Given the description of an element on the screen output the (x, y) to click on. 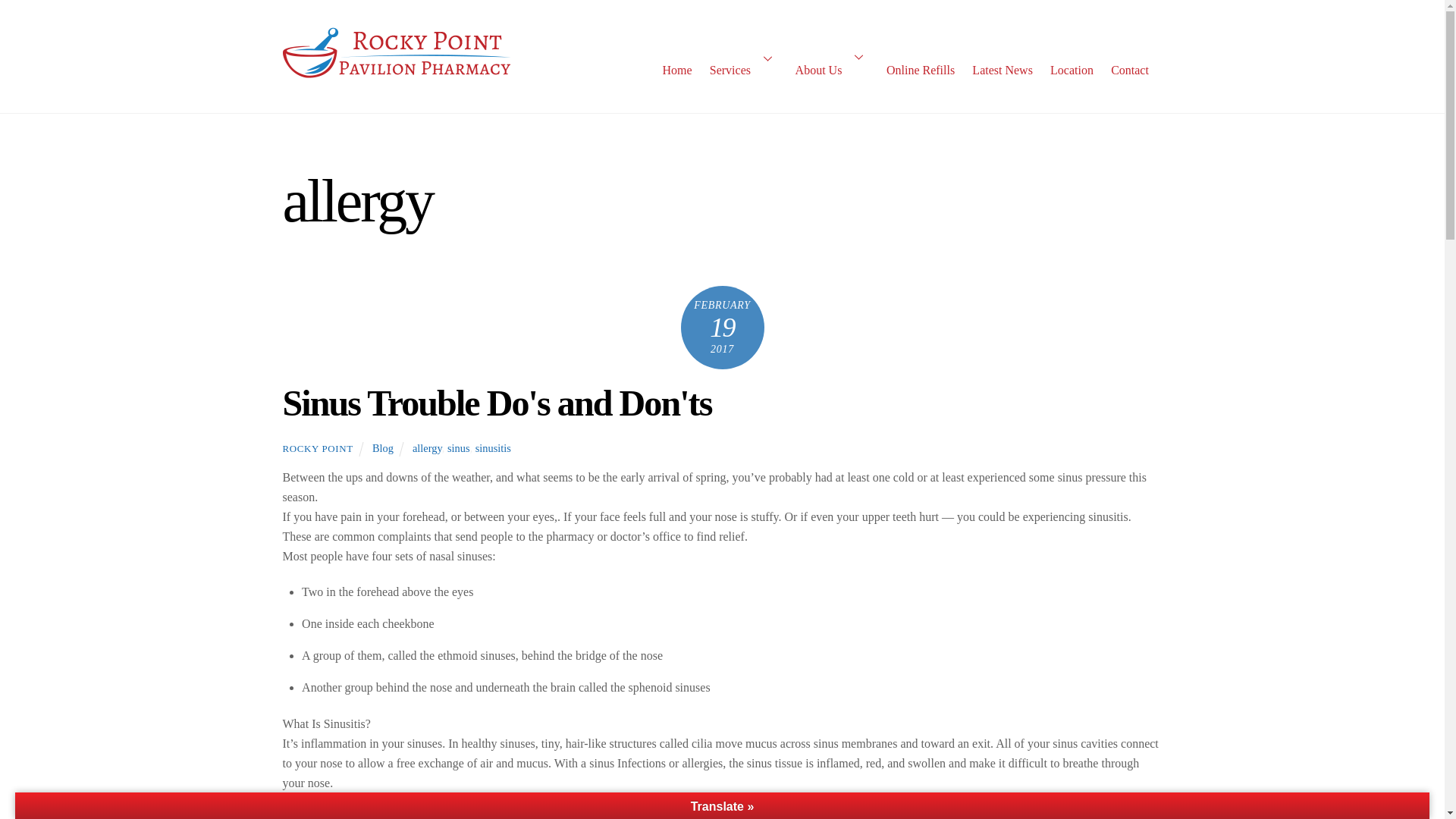
sinus (458, 448)
sinusitis (493, 448)
Latest News (1003, 58)
rpppNewLogo (395, 53)
Contact (1129, 63)
About Us (831, 55)
Rocky Point Pavilion Pharmacy (395, 77)
allergy (427, 448)
Online Refills (919, 56)
Sinus Trouble Do's and Don'ts (496, 403)
Blog (382, 448)
Services (742, 56)
Location (1071, 61)
ROCKY POINT (317, 448)
